Given the description of an element on the screen output the (x, y) to click on. 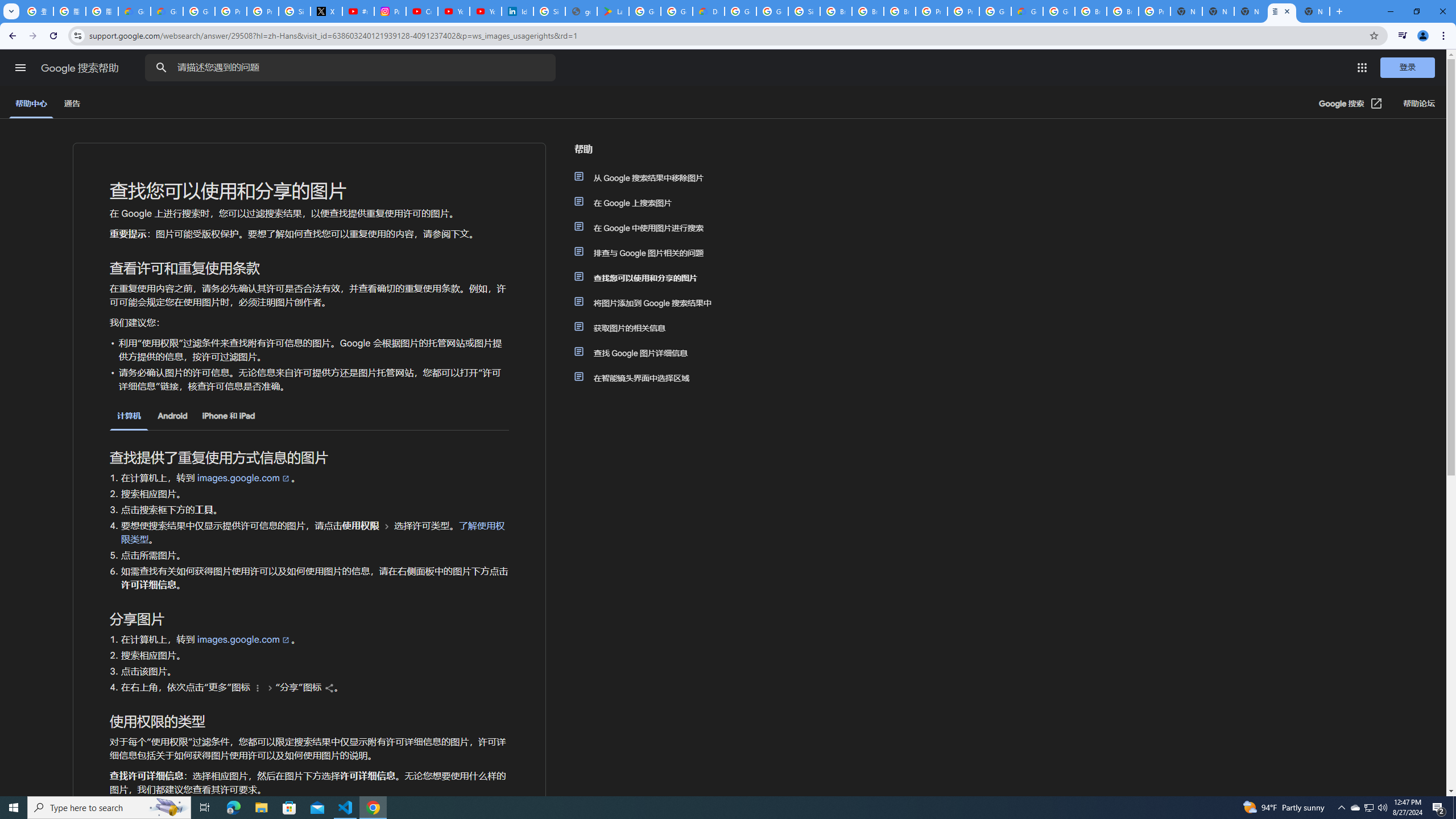
Address and search bar (725, 35)
New Tab (1313, 11)
Search tabs (10, 11)
Last Shelter: Survival - Apps on Google Play (613, 11)
Browse Chrome as a guest - Computer - Google Chrome Help (836, 11)
